Given the description of an element on the screen output the (x, y) to click on. 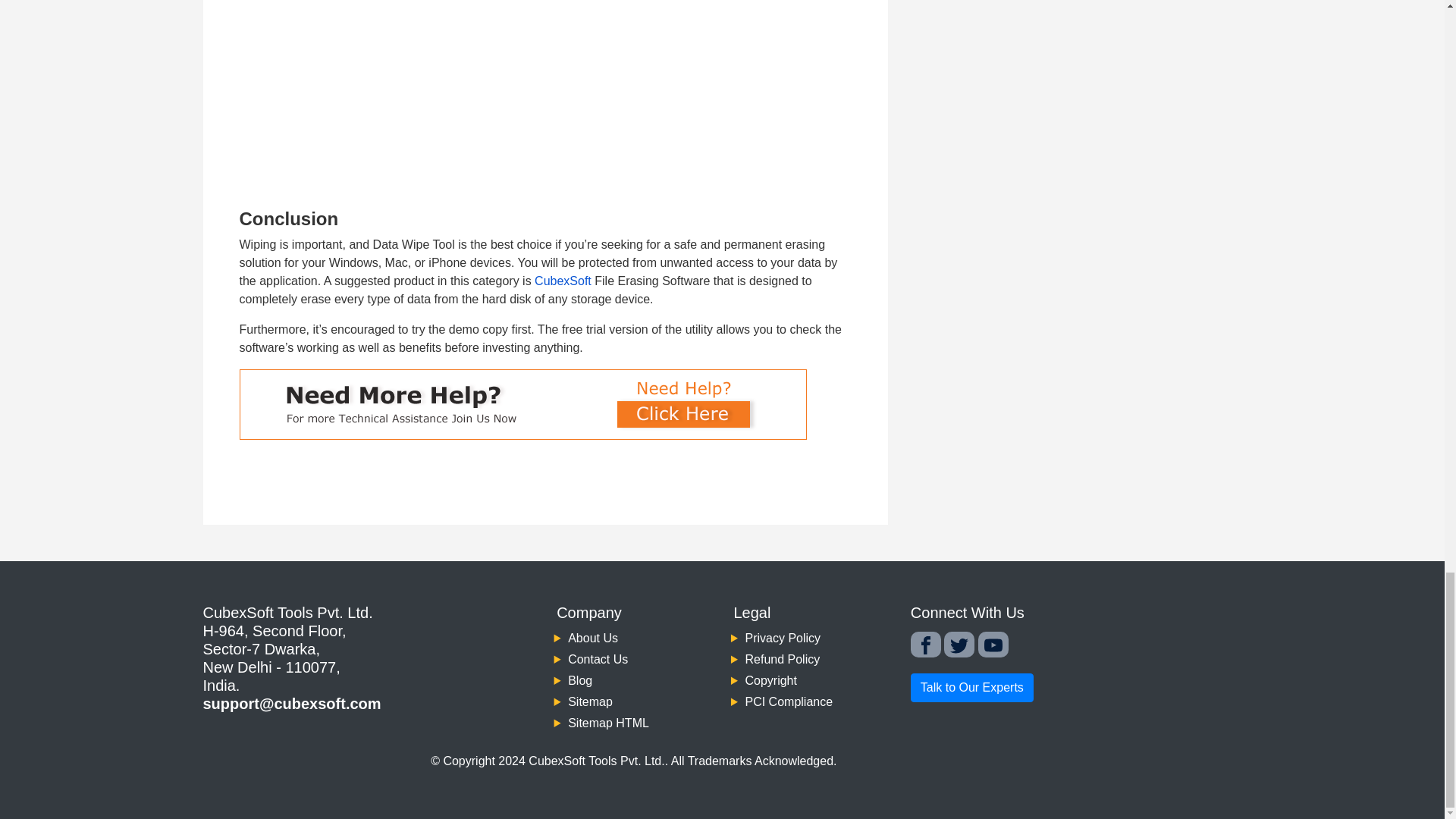
About Us (592, 637)
Contact Us (597, 658)
Privacy Policy (782, 637)
Blog (579, 680)
Refund Policy (781, 658)
Sitemap HTML (608, 722)
CubexSoft (562, 280)
Sitemap (589, 701)
